Given the description of an element on the screen output the (x, y) to click on. 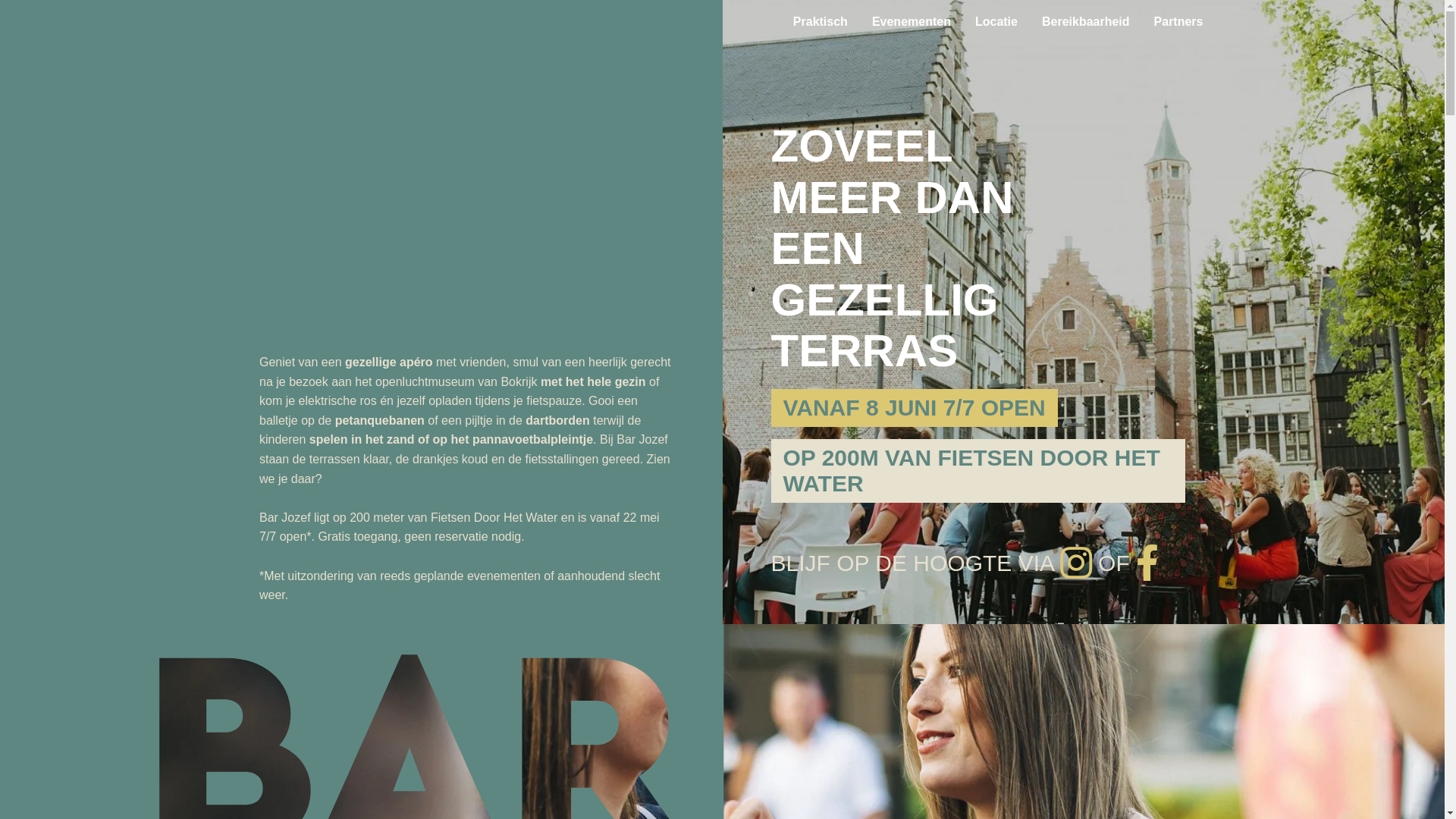
Bereikbaarheid Element type: text (1085, 21)
Locatie Element type: text (996, 21)
Evenementen Element type: text (911, 21)
Praktisch Element type: text (820, 21)
Instagram Element type: hover (1079, 562)
Facebook Element type: hover (1146, 562)
Partners Element type: text (1175, 21)
